Given the description of an element on the screen output the (x, y) to click on. 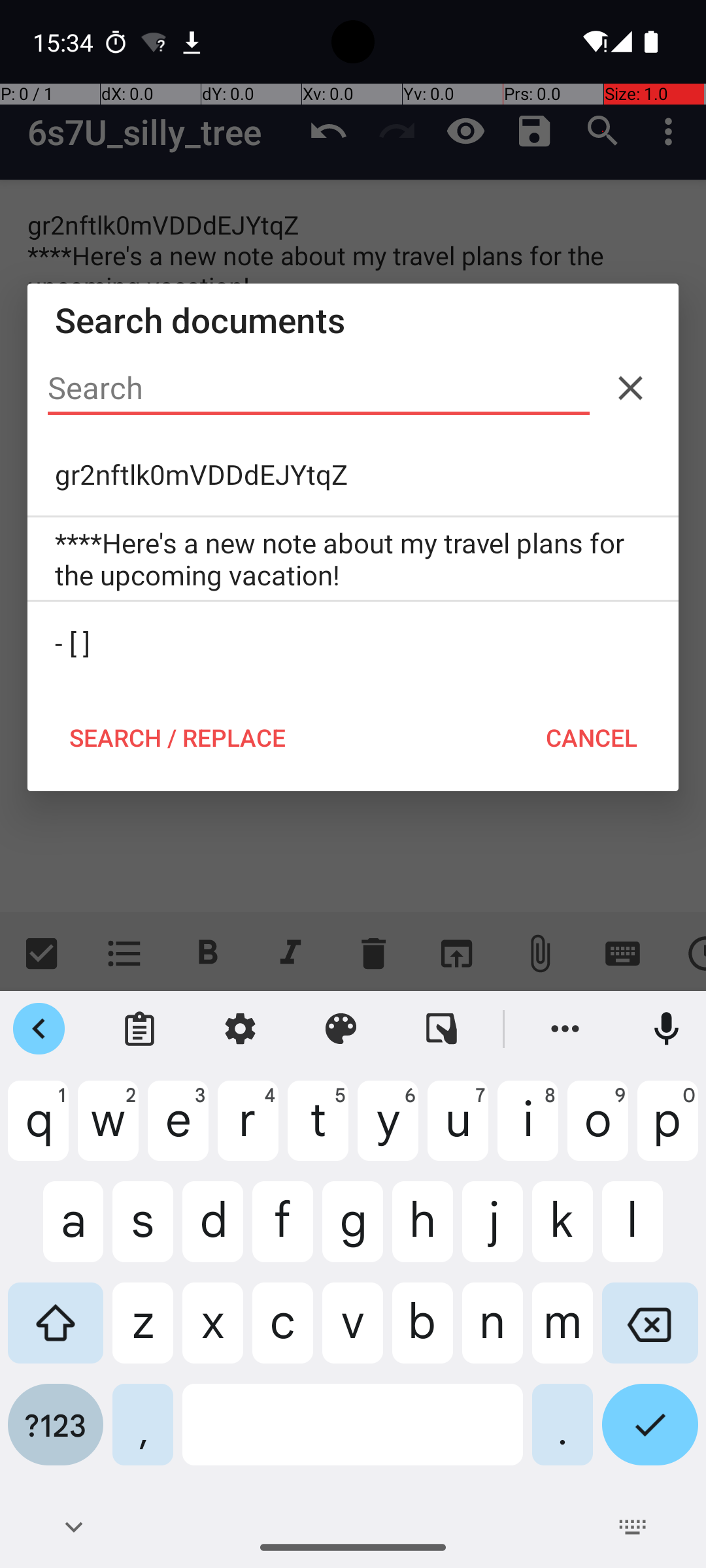
gr2nftlk0mVDDdEJYtqZ Element type: android.widget.TextView (352, 474)
****Here's a new note about my travel plans for the upcoming vacation! Element type: android.widget.TextView (352, 558)
- [ ]  Element type: android.widget.TextView (352, 642)
